Given the description of an element on the screen output the (x, y) to click on. 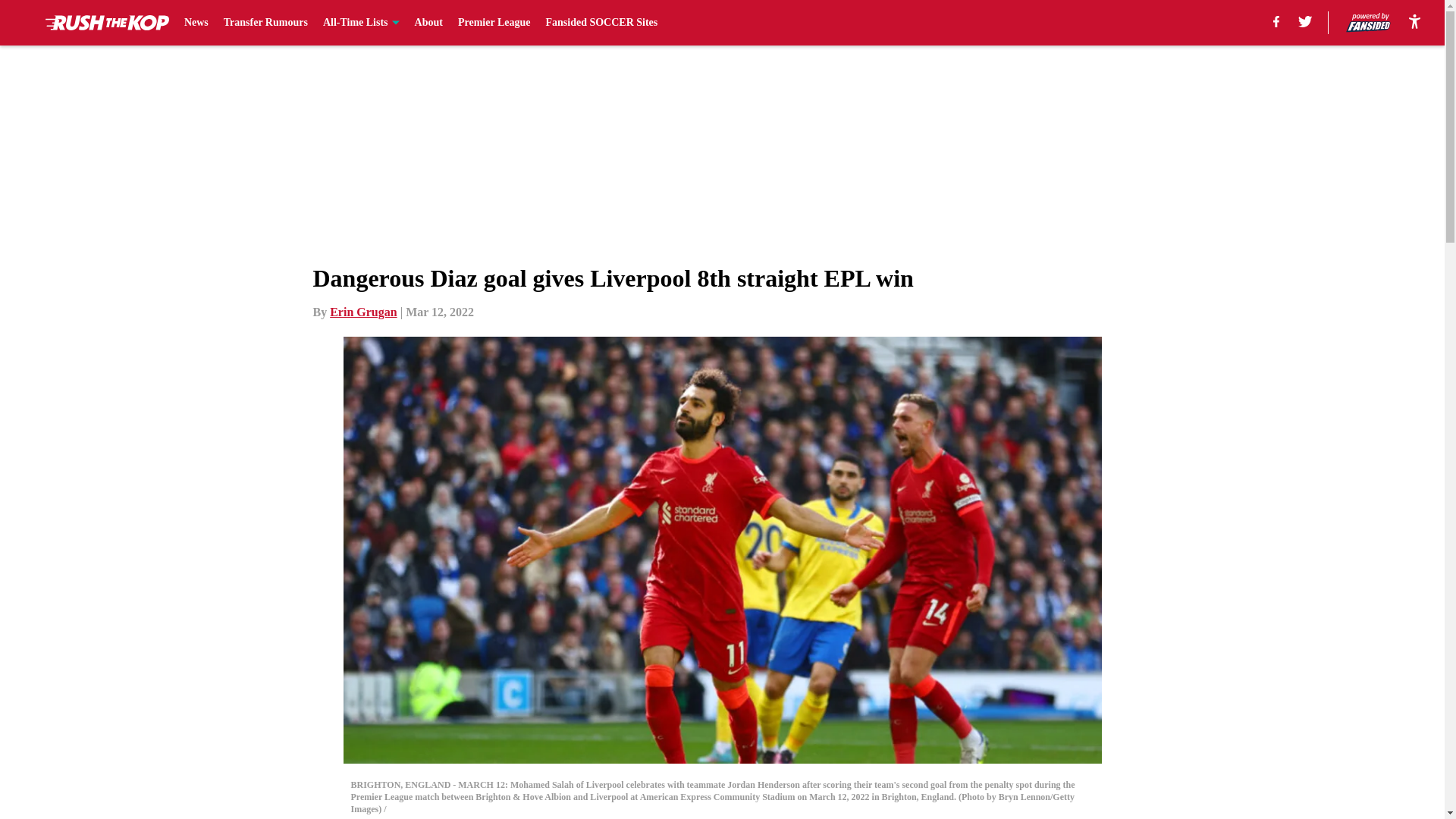
News (196, 22)
Fansided SOCCER Sites (601, 22)
About (428, 22)
Transfer Rumours (265, 22)
Premier League (494, 22)
Erin Grugan (363, 311)
